Given the description of an element on the screen output the (x, y) to click on. 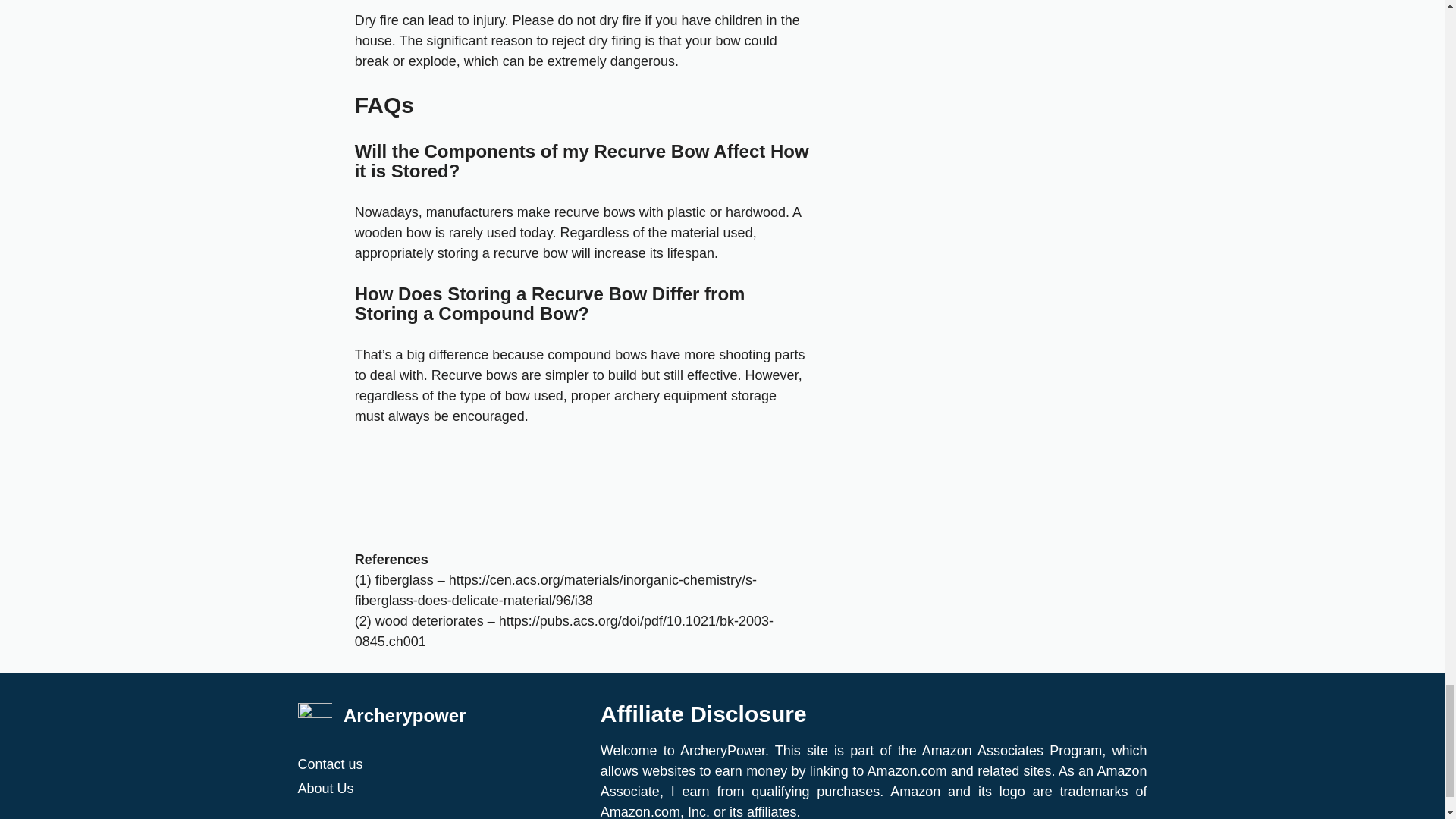
Contact us (441, 764)
Archerypower (404, 715)
About Us (441, 788)
